Given the description of an element on the screen output the (x, y) to click on. 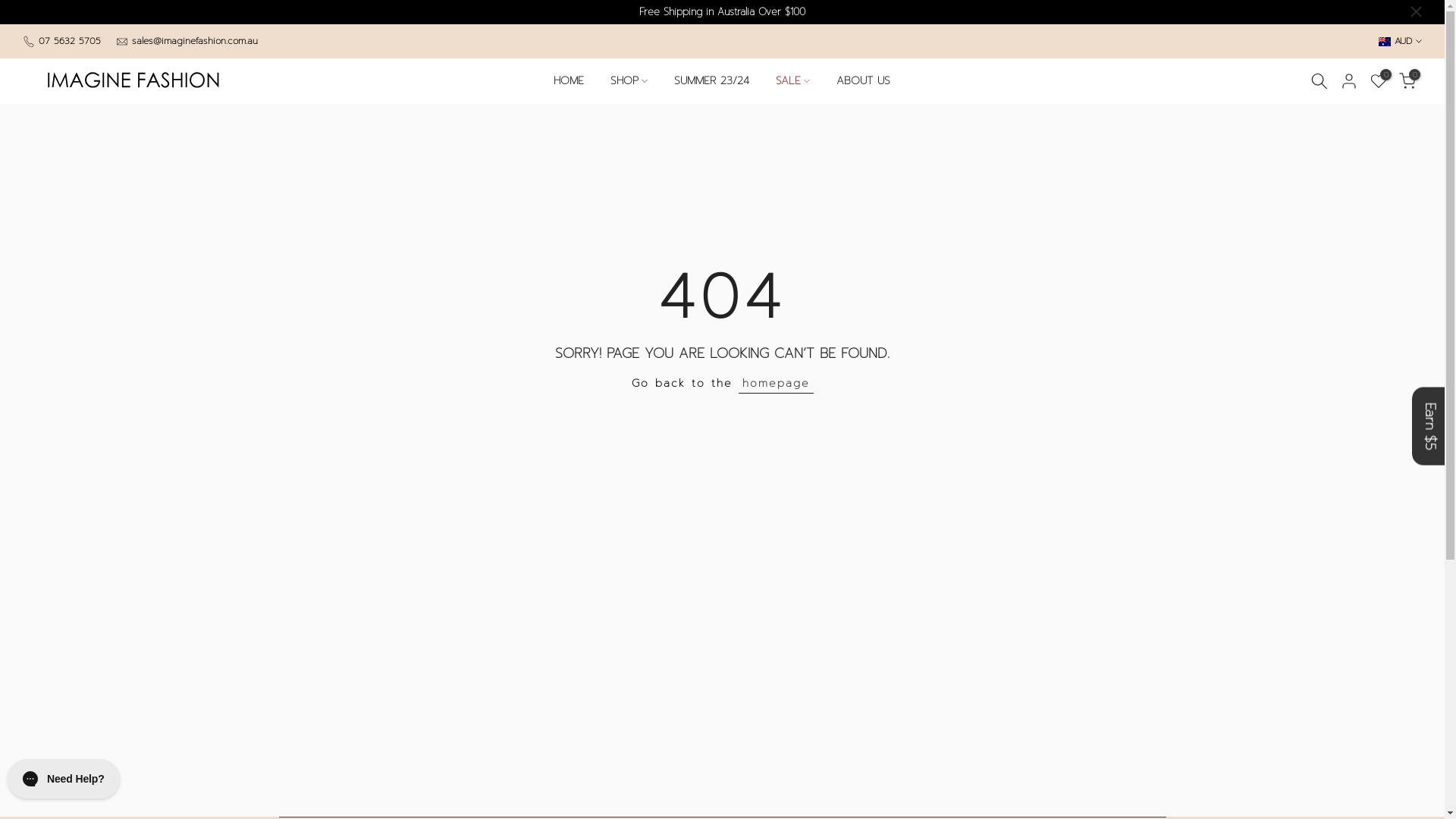
SUMMER 23/24 Element type: text (711, 81)
07 5632 5705 Element type: text (69, 41)
close Element type: text (1415, 11)
AUD Element type: text (1399, 40)
homepage Element type: text (775, 383)
ABOUT US Element type: text (863, 81)
sales@imaginefashion.com.au Element type: text (194, 41)
0 Element type: text (1407, 80)
SHOP Element type: text (629, 81)
0 Element type: text (1378, 80)
SALE Element type: text (792, 81)
Gorgias live chat messenger Element type: hover (63, 778)
HOME Element type: text (568, 81)
